Given the description of an element on the screen output the (x, y) to click on. 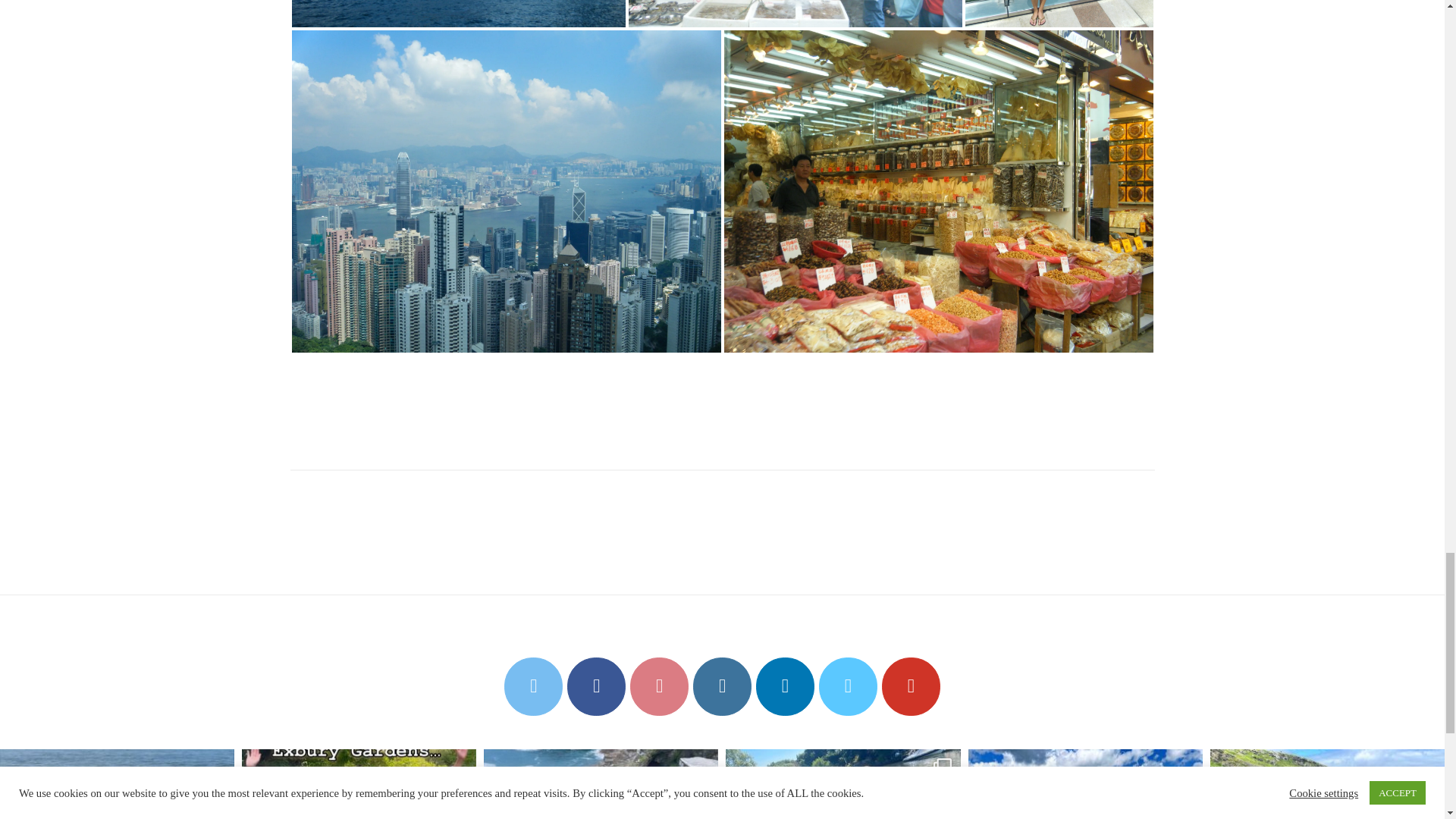
Nicola Dunkinson on Facebook (596, 686)
Nicola Dunkinson on Vimeo Square (847, 686)
Nicola Dunkinson on X Twitter (532, 686)
Nicola Dunkinson on Pinterest (659, 686)
Nicola Dunkinson on Youtube (911, 686)
Nicola Dunkinson on Linkedin (784, 686)
Nicola Dunkinson on Instagram (722, 686)
